Given the description of an element on the screen output the (x, y) to click on. 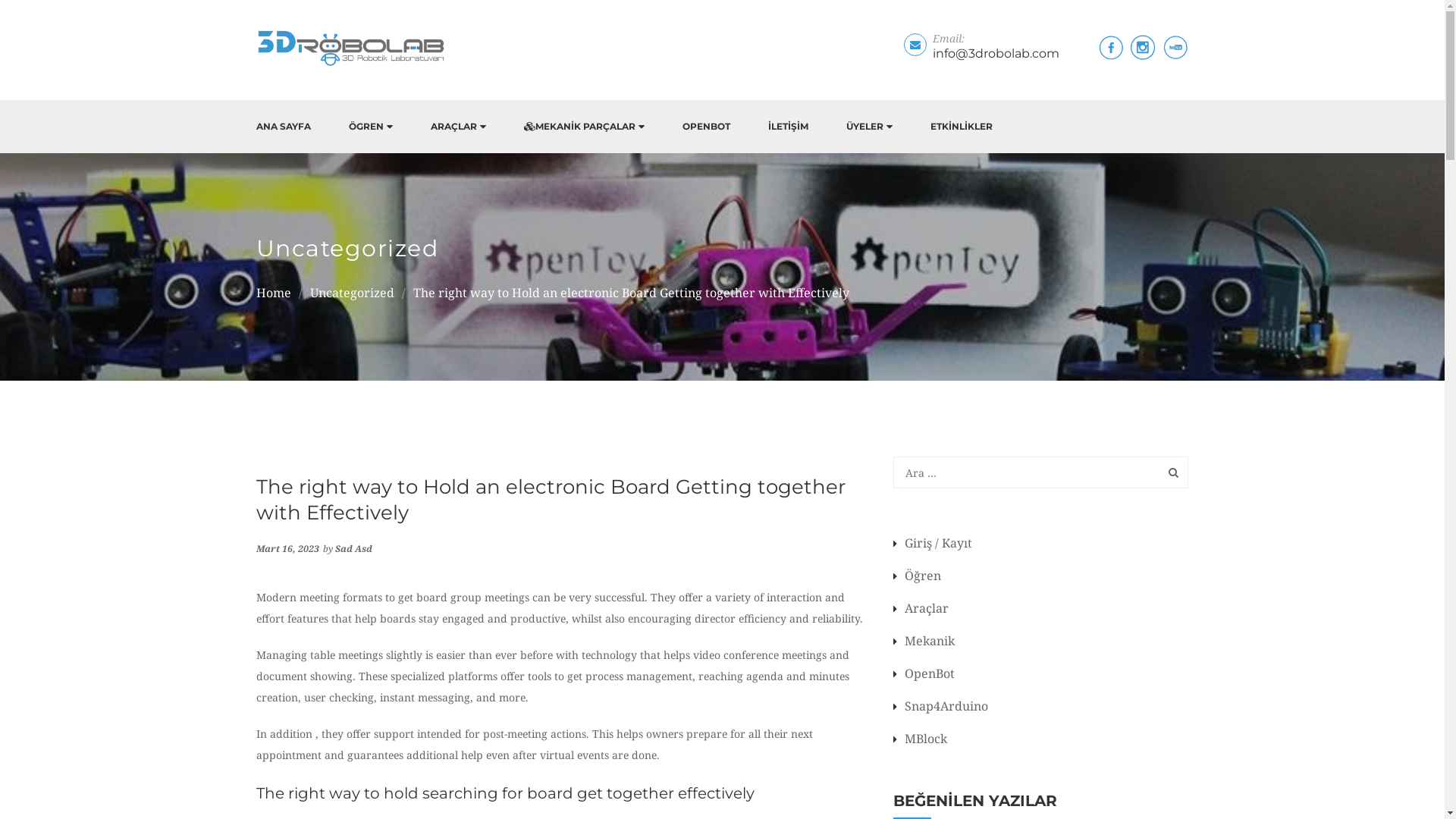
OPENBOT Element type: text (706, 126)
ANA SAYFA Element type: text (283, 126)
Mekanik Element type: text (923, 640)
Uncategorized Element type: text (351, 293)
info@3drobolab.com Element type: text (995, 53)
ETKINLIKLER Element type: text (960, 126)
OpenBot Element type: text (923, 673)
Snap4Arduino Element type: text (940, 705)
MBlock Element type: text (920, 738)
Ara Element type: text (1169, 472)
Sad Asd Element type: text (353, 548)
Home Element type: text (273, 293)
